Given the description of an element on the screen output the (x, y) to click on. 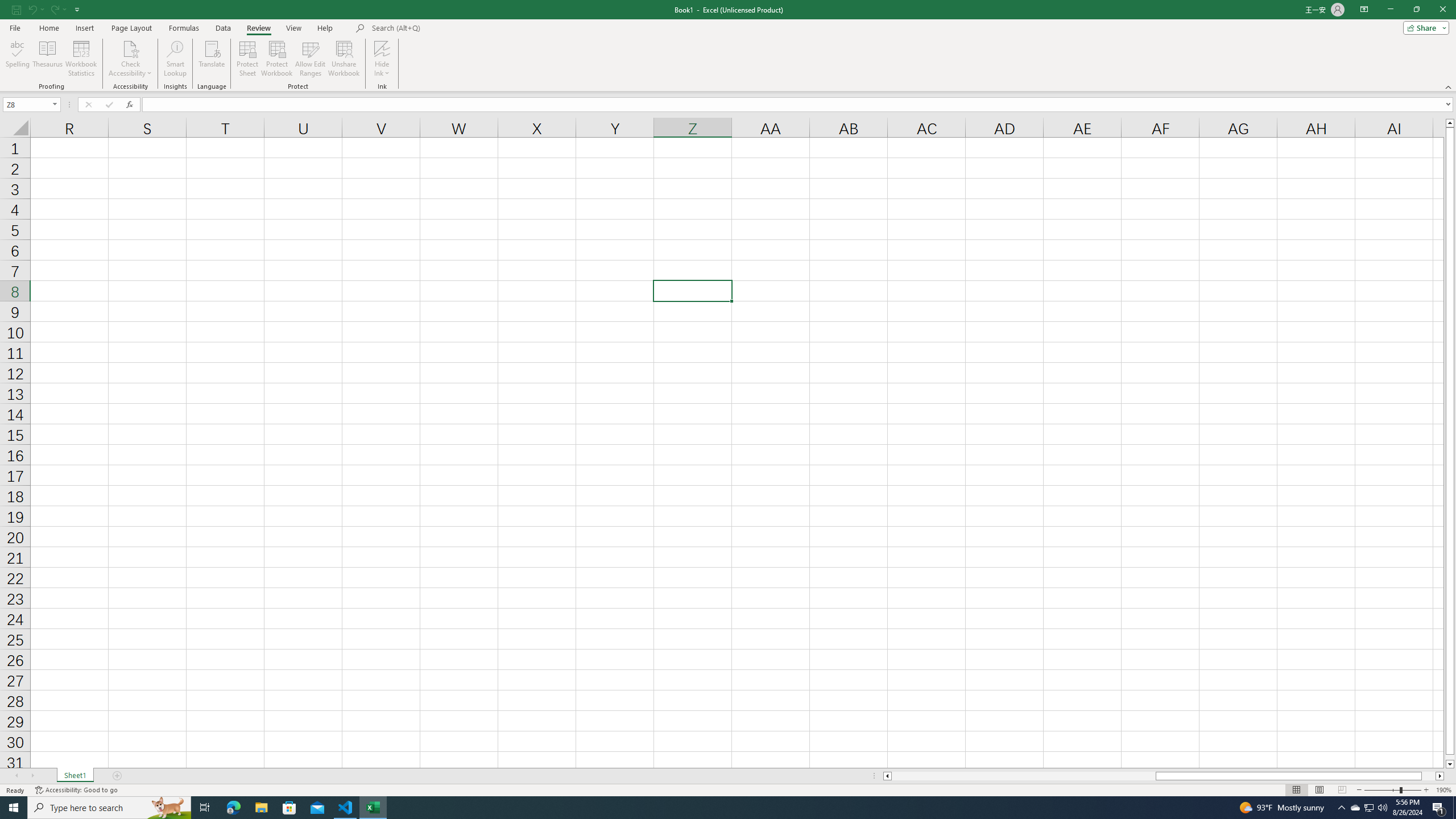
Unshare Workbook (344, 58)
Smart Lookup (175, 58)
